Given the description of an element on the screen output the (x, y) to click on. 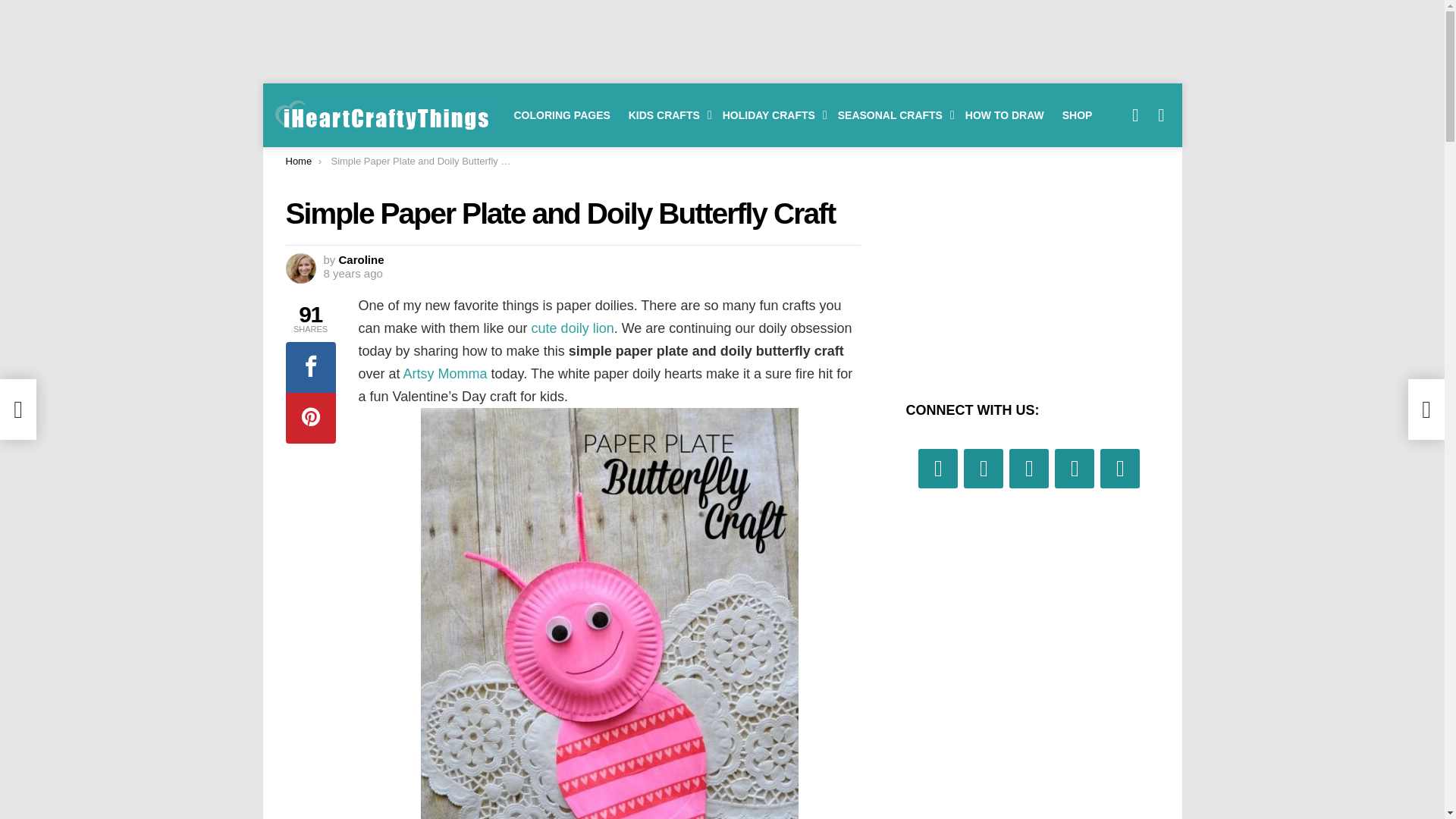
FOLLOW US (1161, 114)
KIDS CRAFTS (666, 115)
COLORING PAGES (561, 115)
Follow us (1161, 114)
SHOP (1077, 115)
HOW TO DRAW (1004, 115)
SEASONAL CRAFTS (892, 115)
HOLIDAY CRAFTS (770, 115)
Posts by Caroline (361, 259)
January 28, 2016, 12:00 PM (352, 273)
SEARCH (1135, 114)
